Given the description of an element on the screen output the (x, y) to click on. 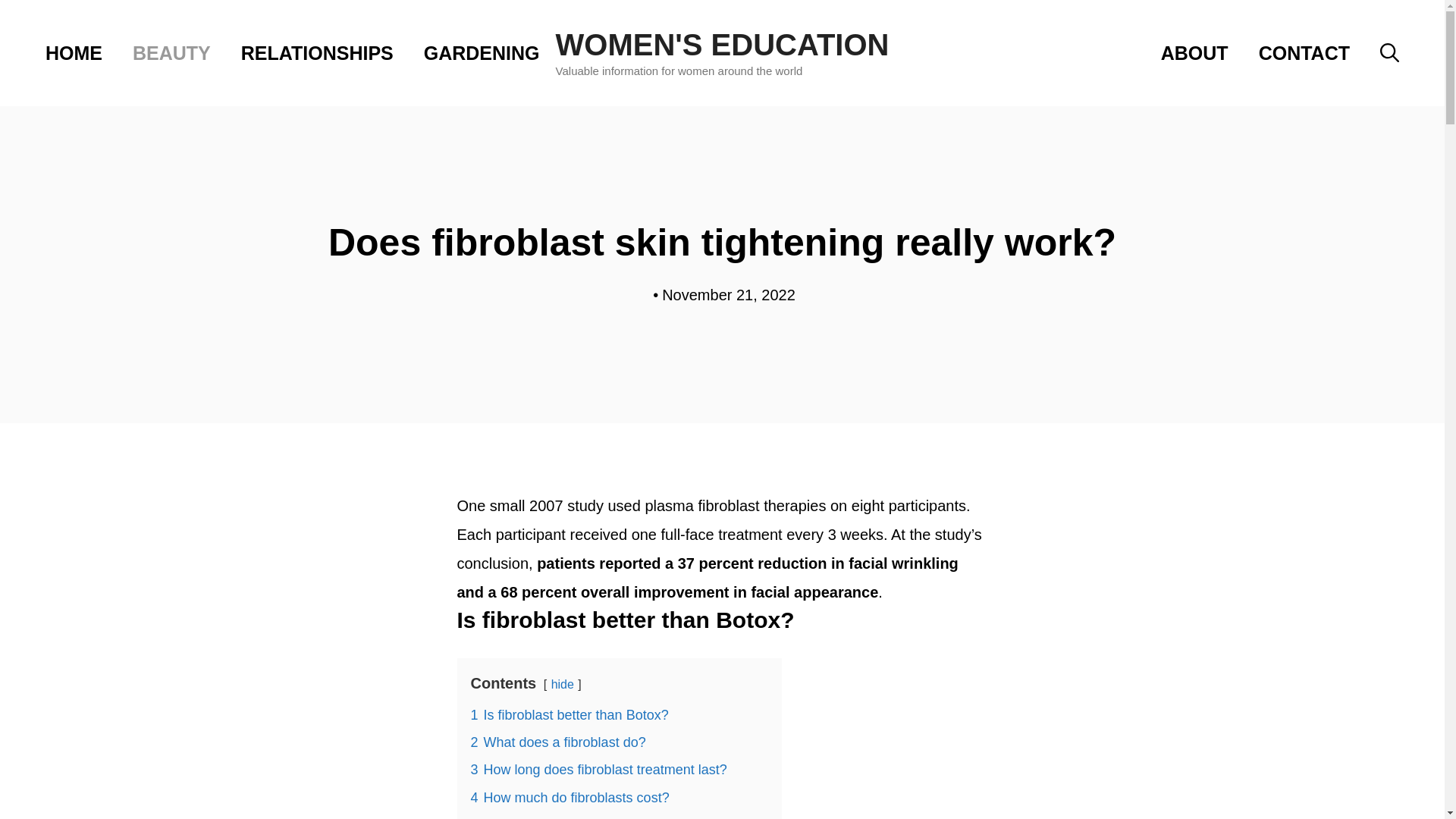
3 How long does fibroblast treatment last? (598, 769)
RELATIONSHIPS (317, 53)
CONTACT (1304, 53)
1 Is fibroblast better than Botox? (569, 714)
ABOUT (1194, 53)
GARDENING (481, 53)
2 What does a fibroblast do? (557, 742)
WOMEN'S EDUCATION (722, 44)
hide (562, 684)
